Given the description of an element on the screen output the (x, y) to click on. 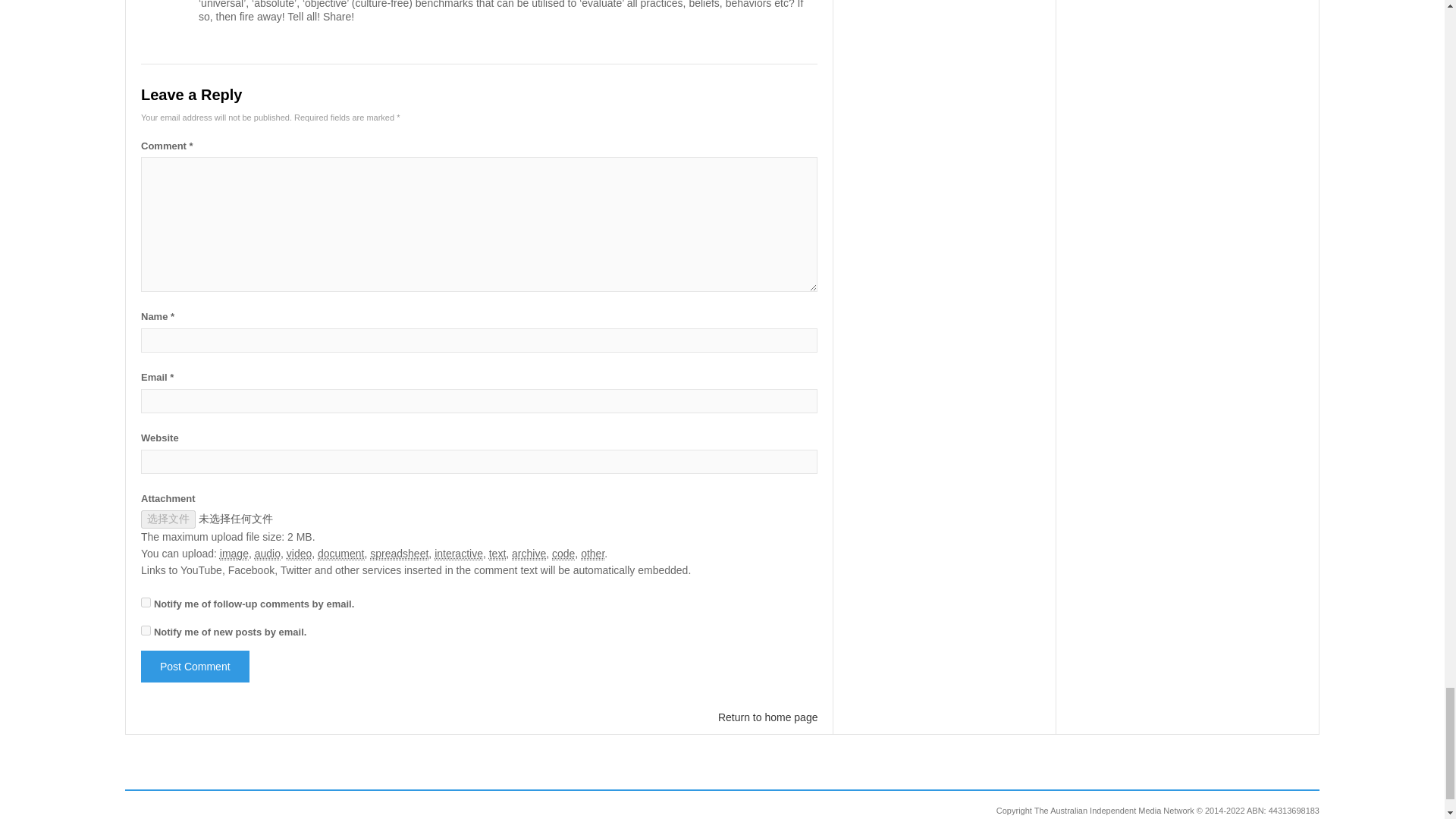
subscribe (146, 630)
Post Comment (194, 666)
subscribe (146, 602)
